Given the description of an element on the screen output the (x, y) to click on. 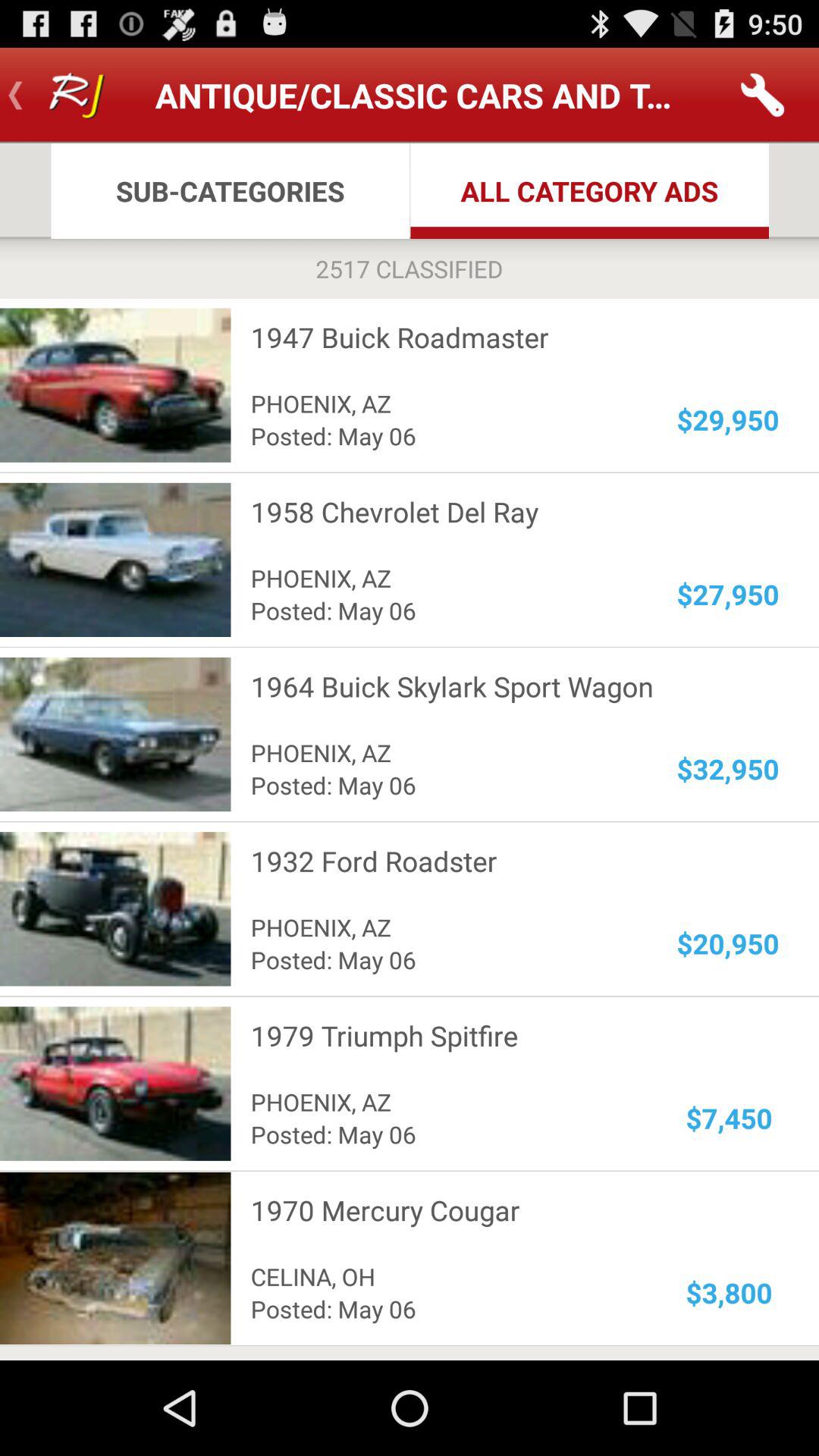
swipe to 1970 mercury cougar item (504, 1210)
